Given the description of an element on the screen output the (x, y) to click on. 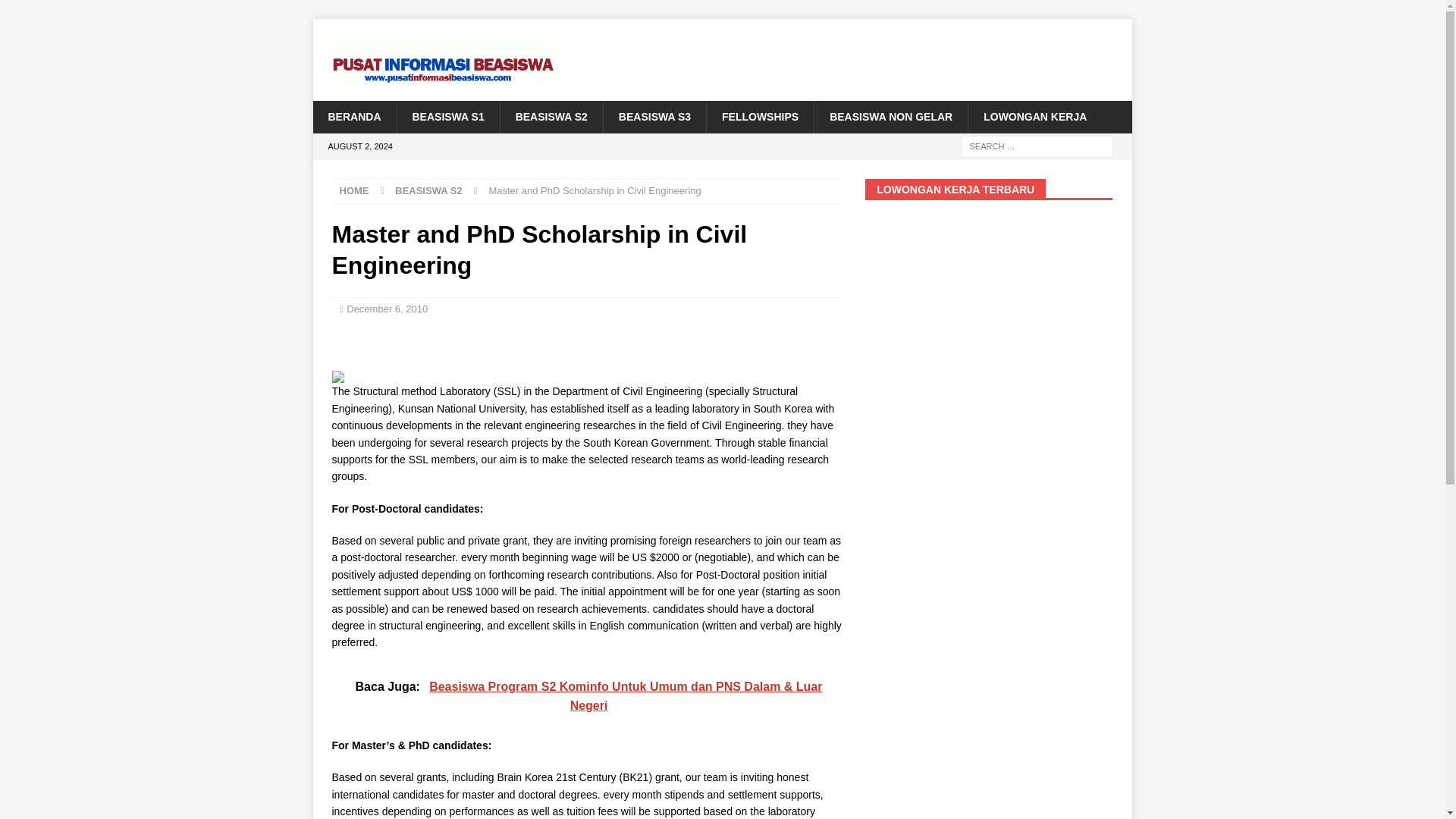
BEASISWA S3 (654, 116)
BEASISWA S1 (447, 116)
FELLOWSHIPS (759, 116)
BEASISWA NON GELAR (890, 116)
LOWONGAN KERJA (1035, 116)
Search (56, 11)
BEASISWA S2 (427, 190)
BERANDA (354, 116)
December 6, 2010 (387, 308)
HOME (354, 190)
BEASISWA S2 (550, 116)
